Given the description of an element on the screen output the (x, y) to click on. 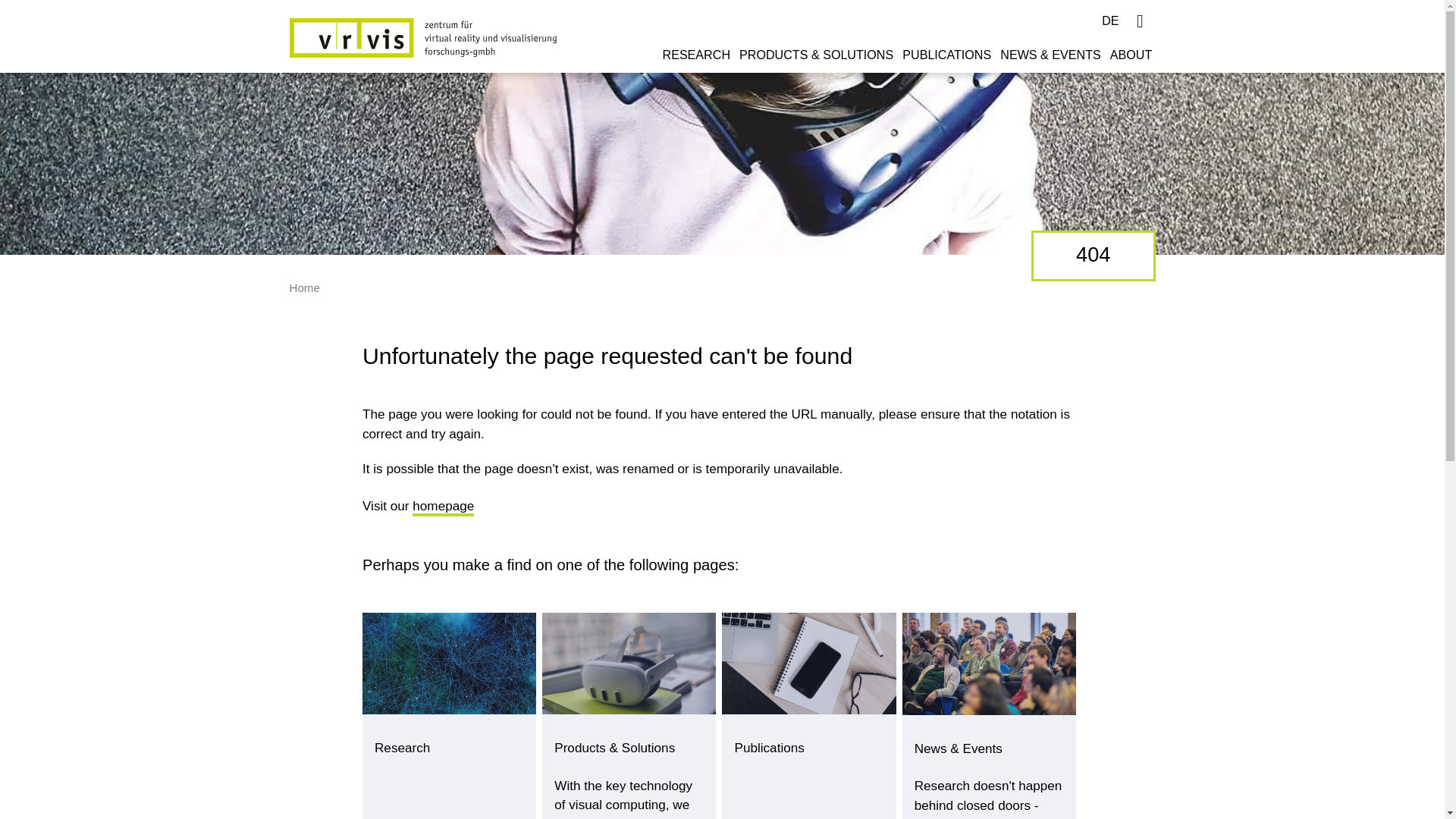
Visual Computing Trends 2023 (988, 663)
VRVis Headerbild 2 (808, 663)
DE (1110, 20)
Quest VR (628, 663)
RESEARCH  (697, 60)
